Given the description of an element on the screen output the (x, y) to click on. 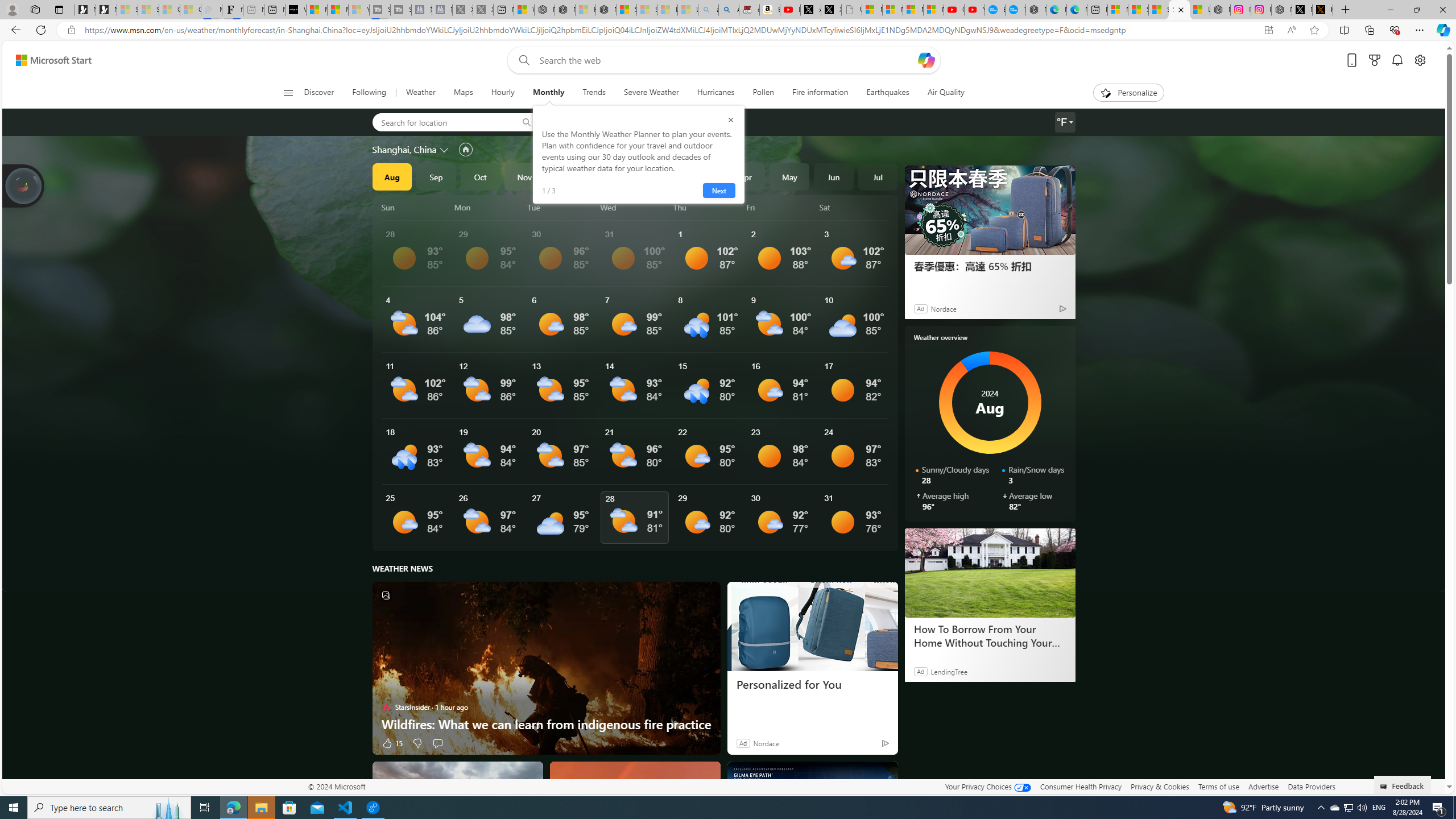
Terms of use (1218, 786)
Consumer Health Privacy (1080, 786)
Remove location (653, 122)
Earthquakes (887, 92)
Pollen (763, 92)
Privacy & Cookies (1160, 786)
Aberdeen (576, 121)
